Given the description of an element on the screen output the (x, y) to click on. 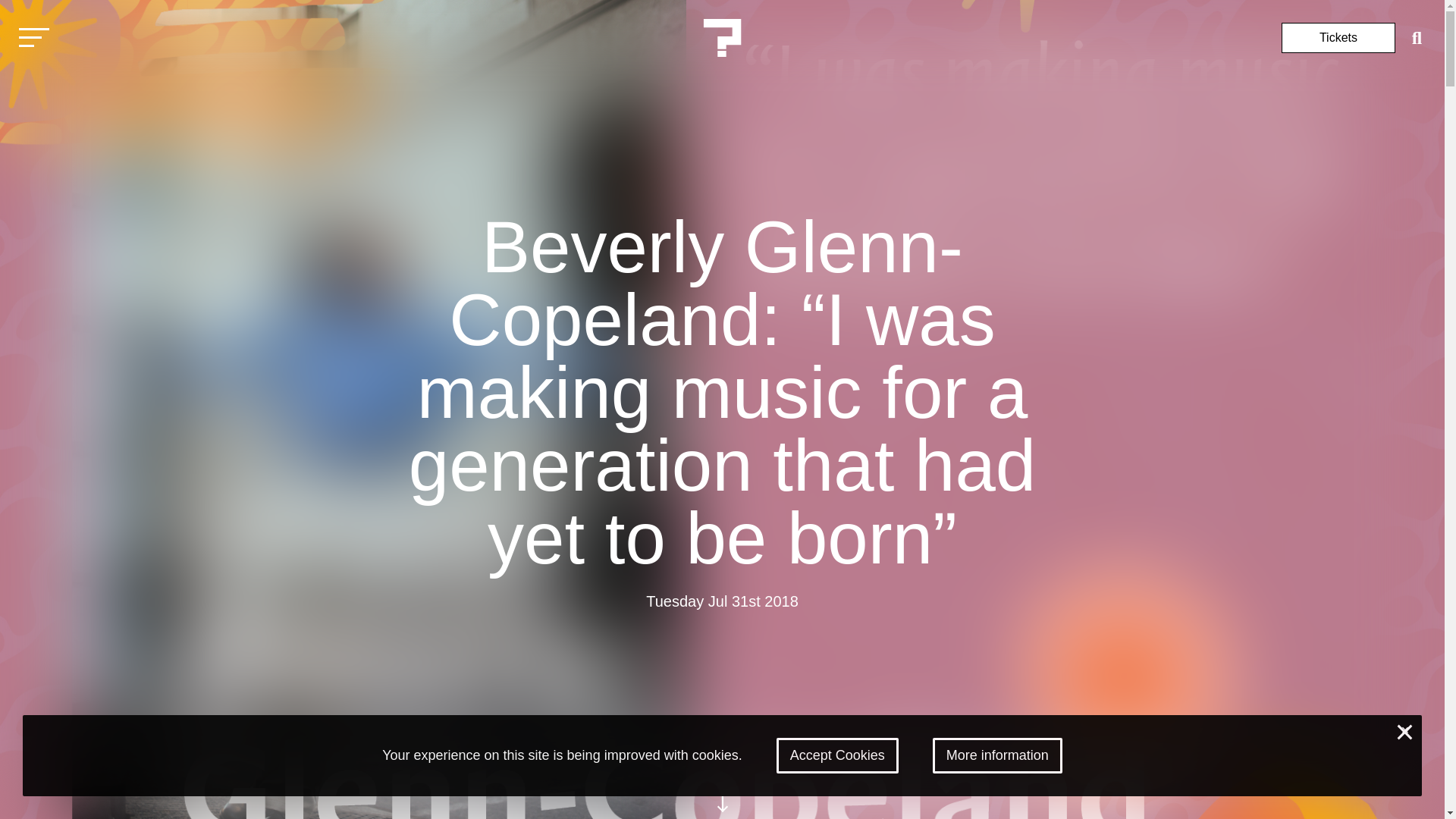
Tickets (1337, 37)
